Given the description of an element on the screen output the (x, y) to click on. 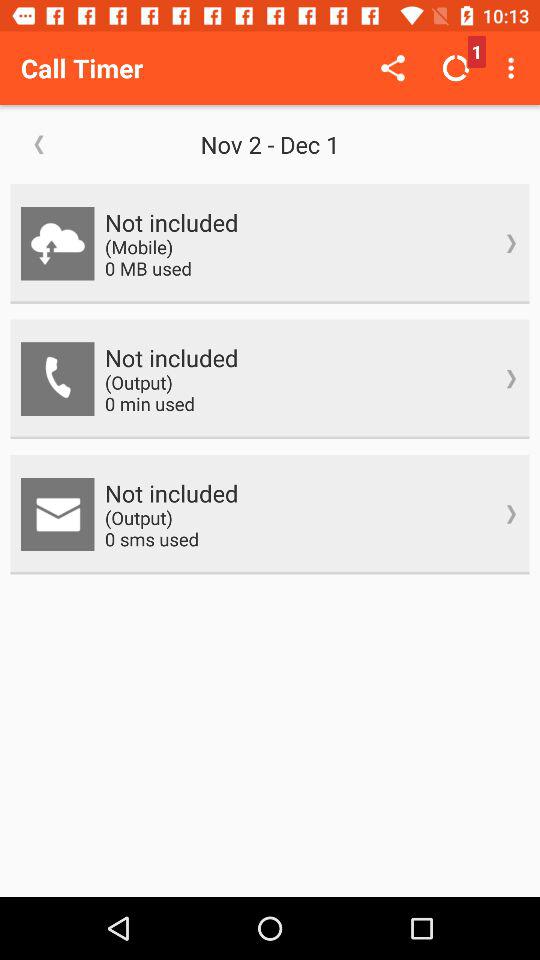
select item above the not included mobile item (269, 144)
